Given the description of an element on the screen output the (x, y) to click on. 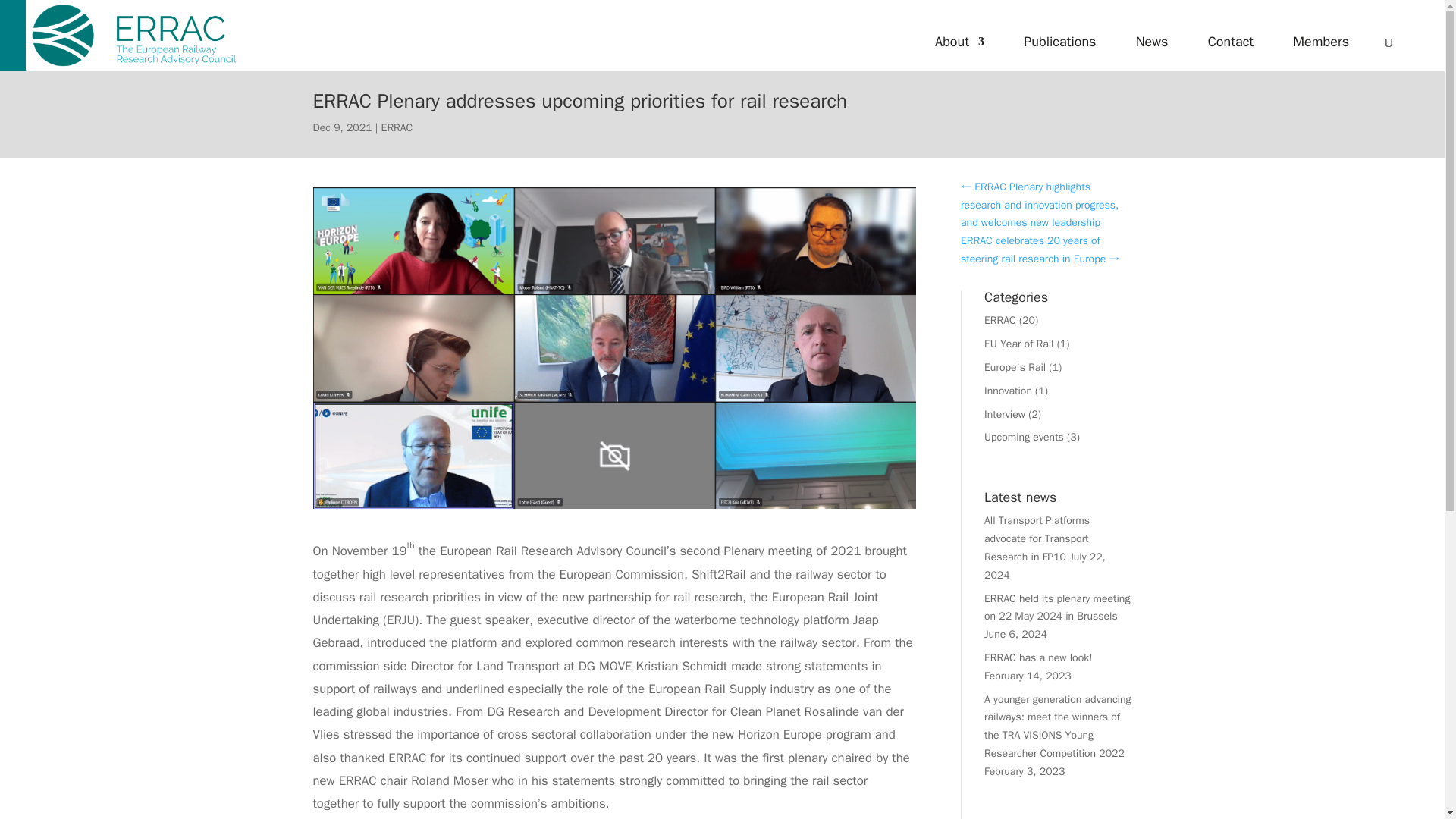
Europe's Rail (1014, 367)
EU Year of Rail (1018, 343)
ERRAC has a new look! (1038, 657)
Interview (1004, 413)
News (1152, 59)
Contact (1230, 59)
Publications (1059, 59)
Members (1320, 59)
ERRAC held its plenary meeting on 22 May 2024 in Brussels (1056, 607)
ERRAC (1000, 319)
Upcoming events (1024, 436)
Innovation (1008, 390)
ERRAC (397, 127)
